Given the description of an element on the screen output the (x, y) to click on. 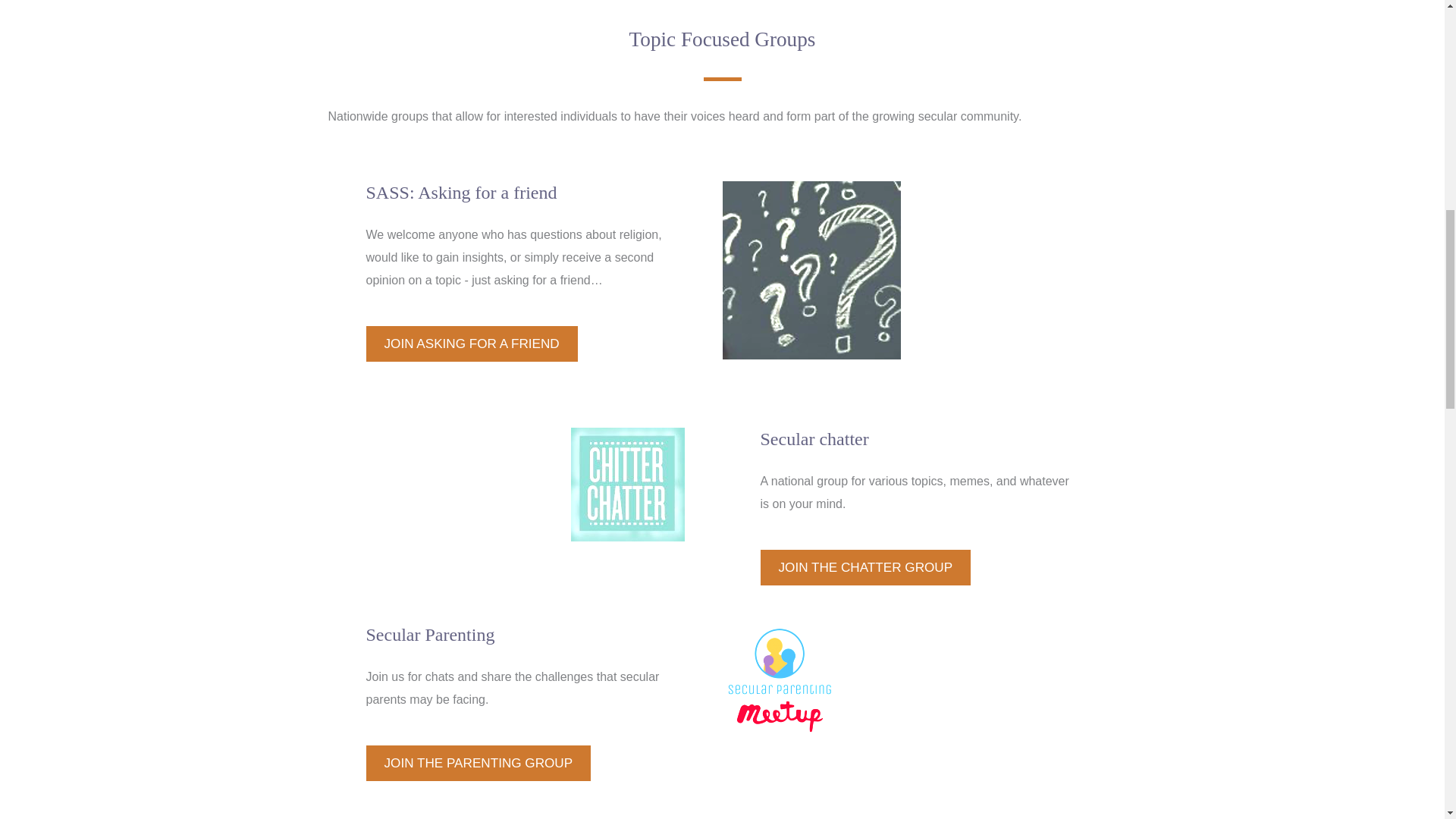
JOIN ASKING FOR A FRIEND (470, 343)
